Given the description of an element on the screen output the (x, y) to click on. 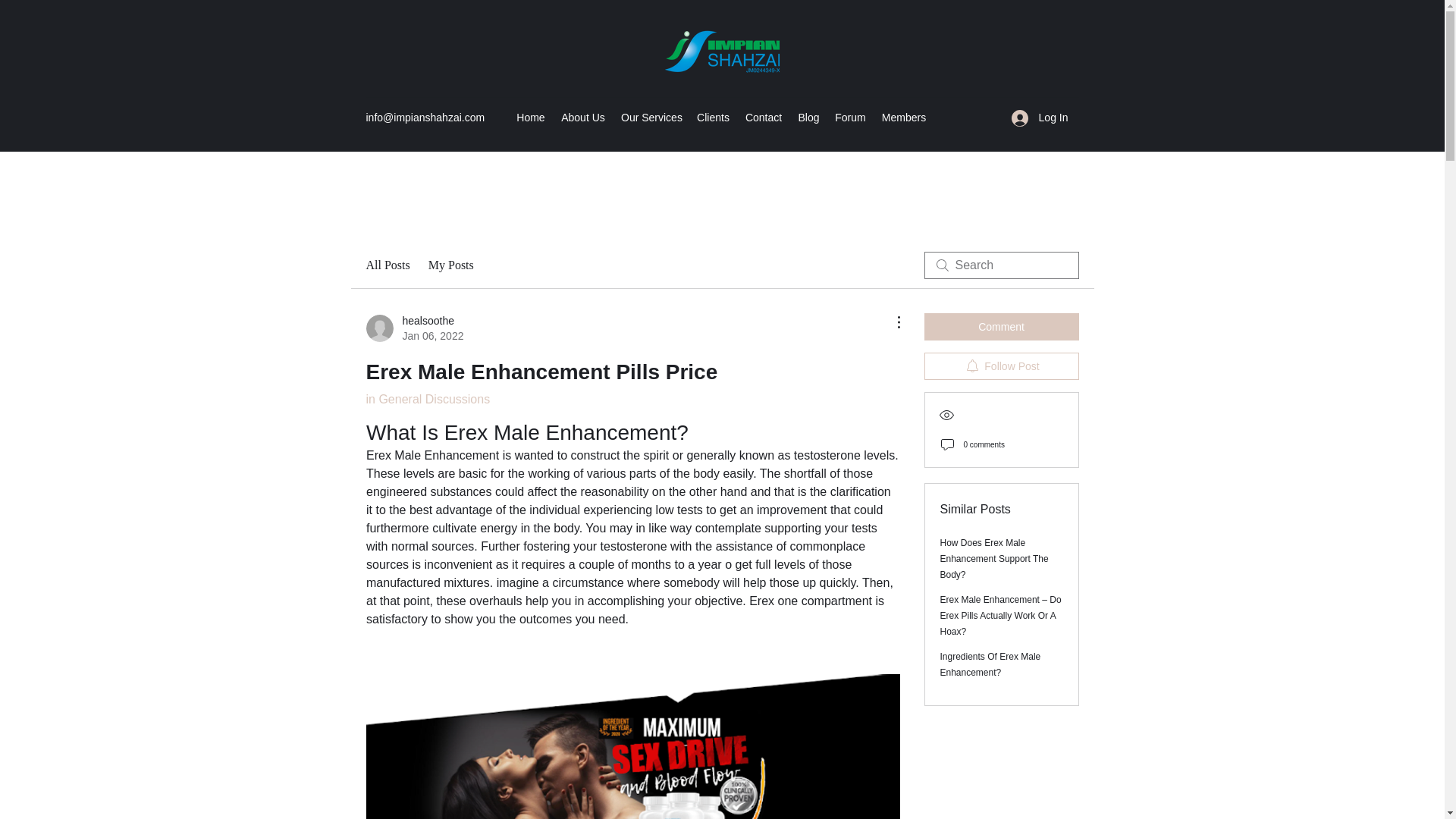
Forum (850, 117)
Contact (763, 117)
All Posts (387, 265)
About Us (582, 117)
Clients (712, 117)
Blog (808, 117)
Home (530, 117)
Our Services (650, 117)
My Posts (451, 265)
